Given the description of an element on the screen output the (x, y) to click on. 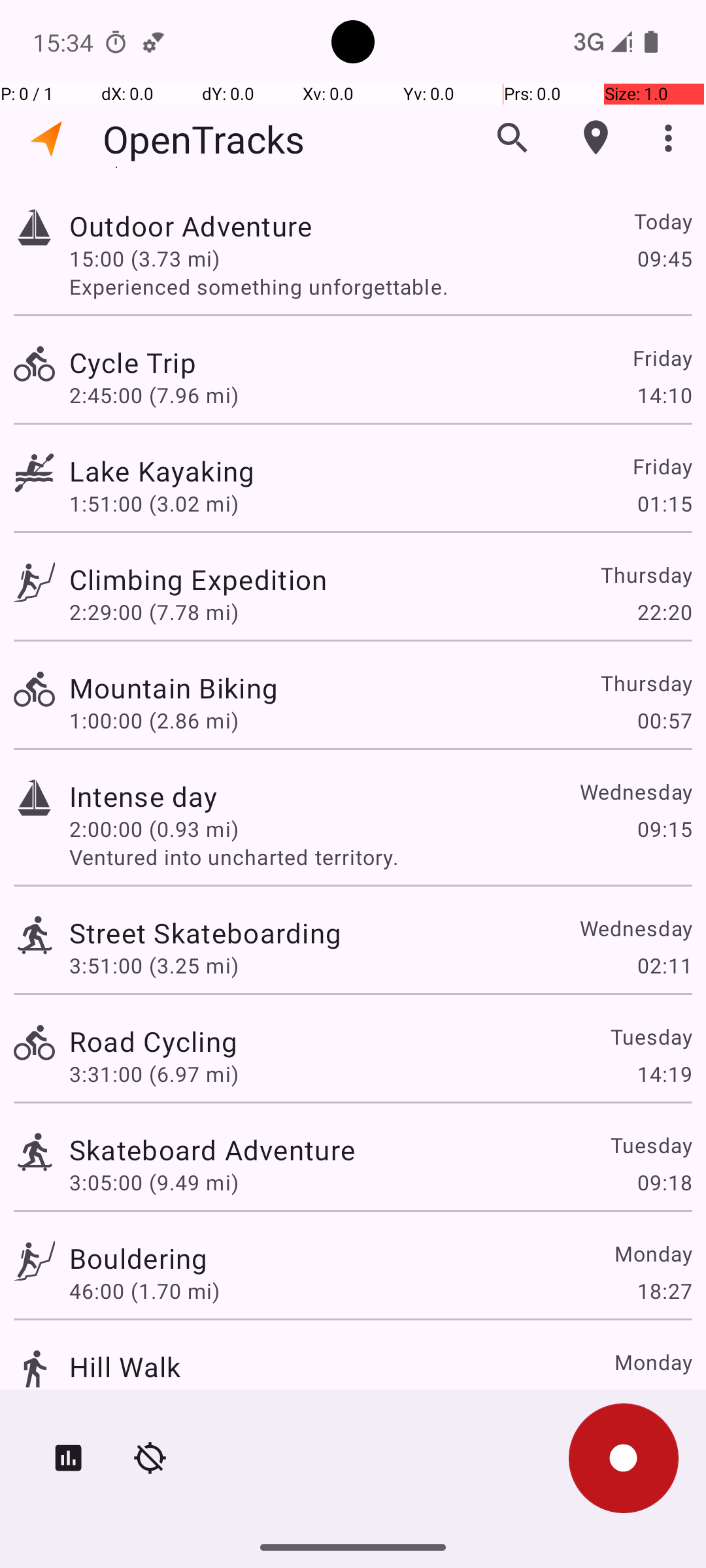
15:00 (3.73 mi) Element type: android.widget.TextView (144, 258)
09:45 Element type: android.widget.TextView (664, 258)
Experienced something unforgettable. Element type: android.widget.TextView (380, 286)
2:45:00 (7.96 mi) Element type: android.widget.TextView (153, 394)
14:10 Element type: android.widget.TextView (664, 394)
Lake Kayaking Element type: android.widget.TextView (161, 470)
1:51:00 (3.02 mi) Element type: android.widget.TextView (153, 503)
01:15 Element type: android.widget.TextView (664, 503)
Climbing Expedition Element type: android.widget.TextView (197, 578)
2:29:00 (7.78 mi) Element type: android.widget.TextView (153, 611)
22:20 Element type: android.widget.TextView (664, 611)
Mountain Biking Element type: android.widget.TextView (173, 687)
1:00:00 (2.86 mi) Element type: android.widget.TextView (153, 720)
00:57 Element type: android.widget.TextView (664, 720)
Intense day Element type: android.widget.TextView (143, 795)
2:00:00 (0.93 mi) Element type: android.widget.TextView (153, 828)
09:15 Element type: android.widget.TextView (664, 828)
Ventured into uncharted territory. Element type: android.widget.TextView (380, 856)
Street Skateboarding Element type: android.widget.TextView (204, 932)
3:51:00 (3.25 mi) Element type: android.widget.TextView (153, 965)
02:11 Element type: android.widget.TextView (664, 965)
Road Cycling Element type: android.widget.TextView (152, 1040)
3:31:00 (6.97 mi) Element type: android.widget.TextView (153, 1073)
14:19 Element type: android.widget.TextView (664, 1073)
Skateboard Adventure Element type: android.widget.TextView (211, 1149)
3:05:00 (9.49 mi) Element type: android.widget.TextView (153, 1182)
09:18 Element type: android.widget.TextView (664, 1182)
Bouldering Element type: android.widget.TextView (138, 1257)
46:00 (1.70 mi) Element type: android.widget.TextView (144, 1290)
18:27 Element type: android.widget.TextView (664, 1290)
Hill Walk Element type: android.widget.TextView (124, 1366)
52:00 (5.21 mi) Element type: android.widget.TextView (144, 1399)
08:53 Element type: android.widget.TextView (664, 1399)
